Given the description of an element on the screen output the (x, y) to click on. 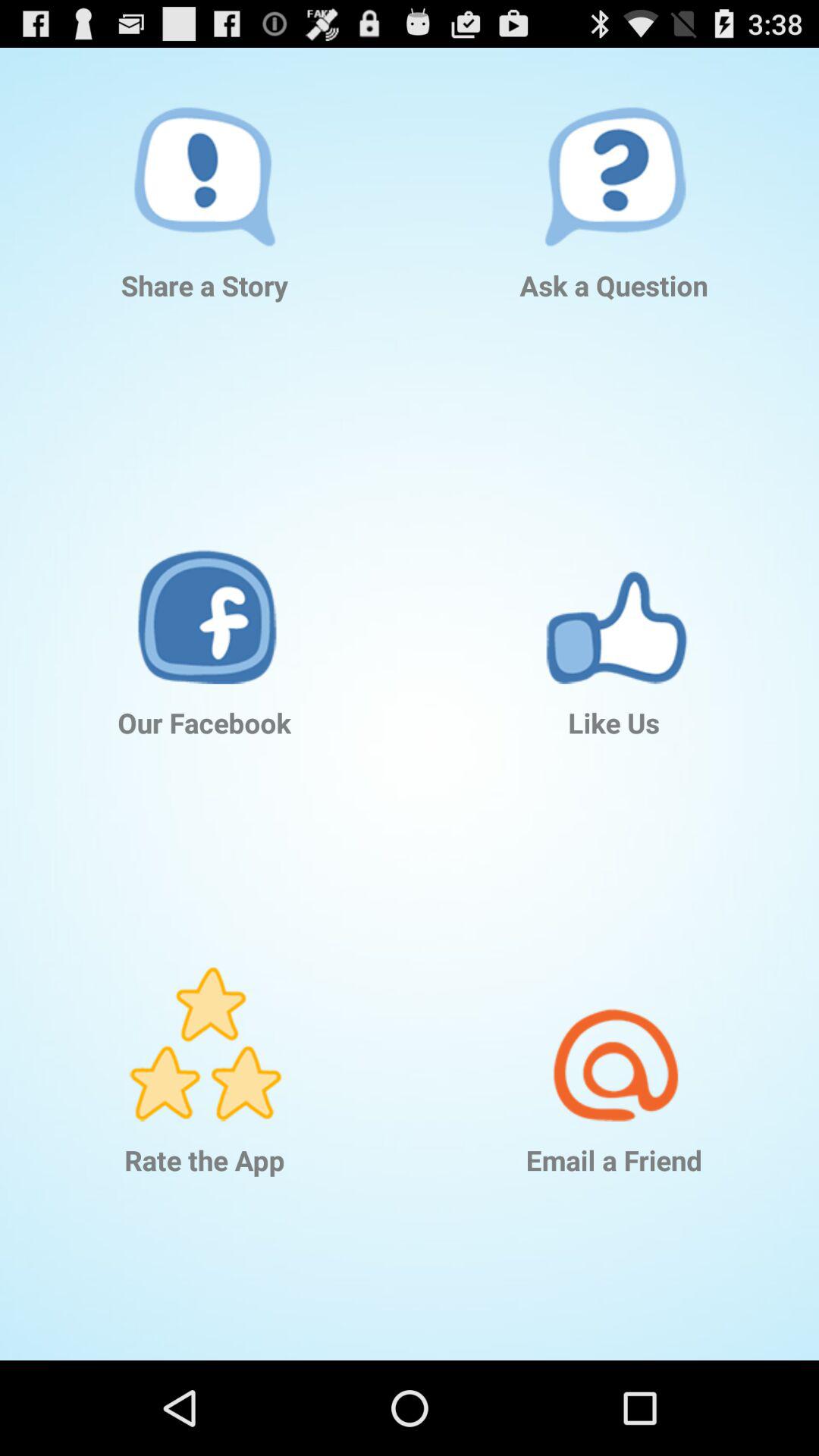
launch the app above rate the app item (204, 1021)
